Given the description of an element on the screen output the (x, y) to click on. 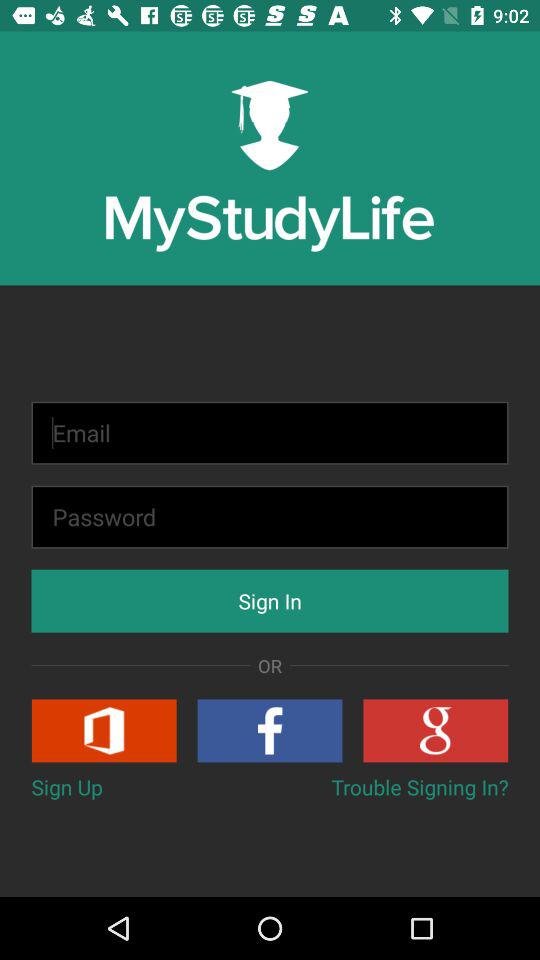
sign in with google (435, 730)
